Given the description of an element on the screen output the (x, y) to click on. 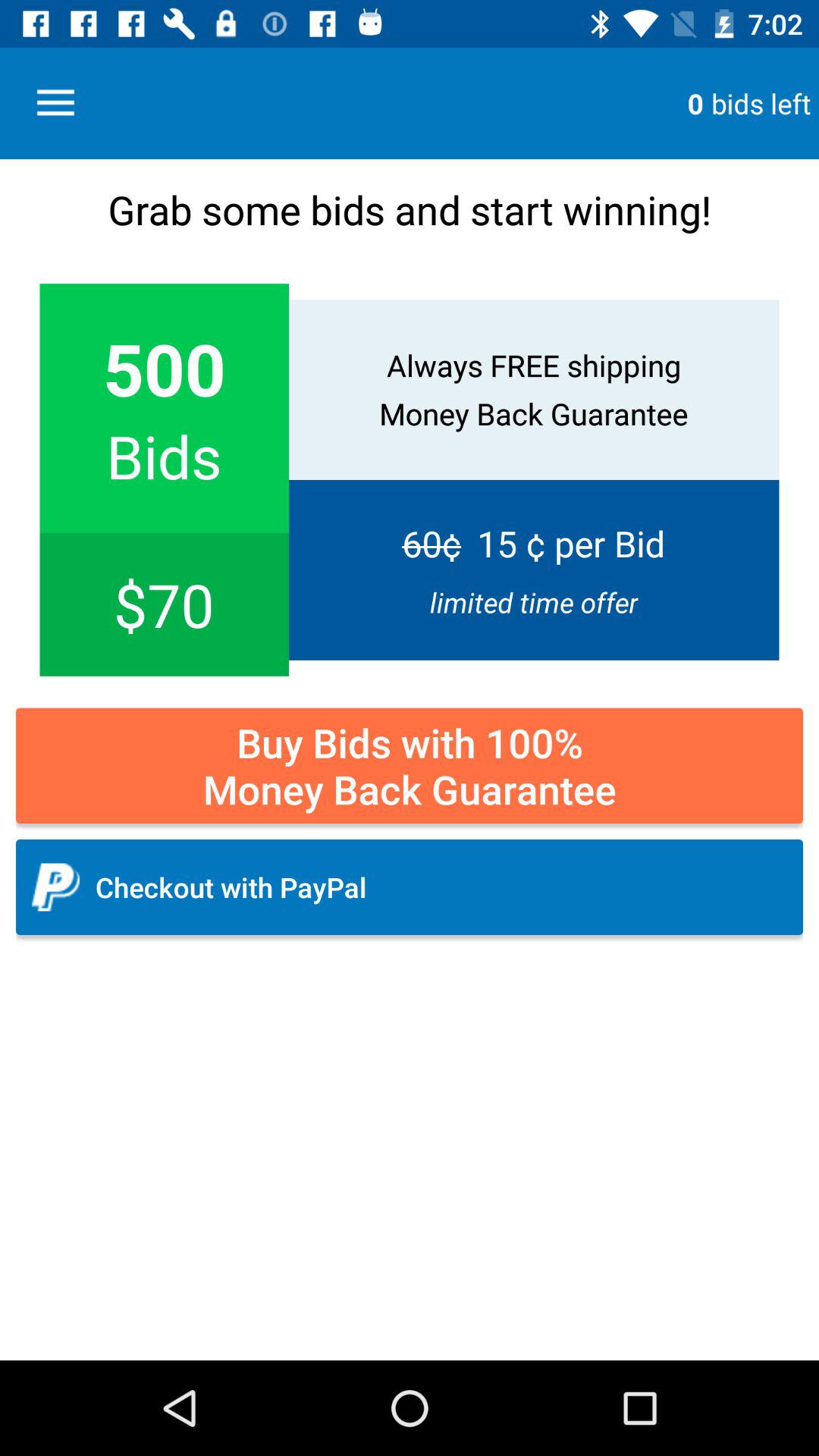
launch item below the buy bids with item (409, 887)
